Given the description of an element on the screen output the (x, y) to click on. 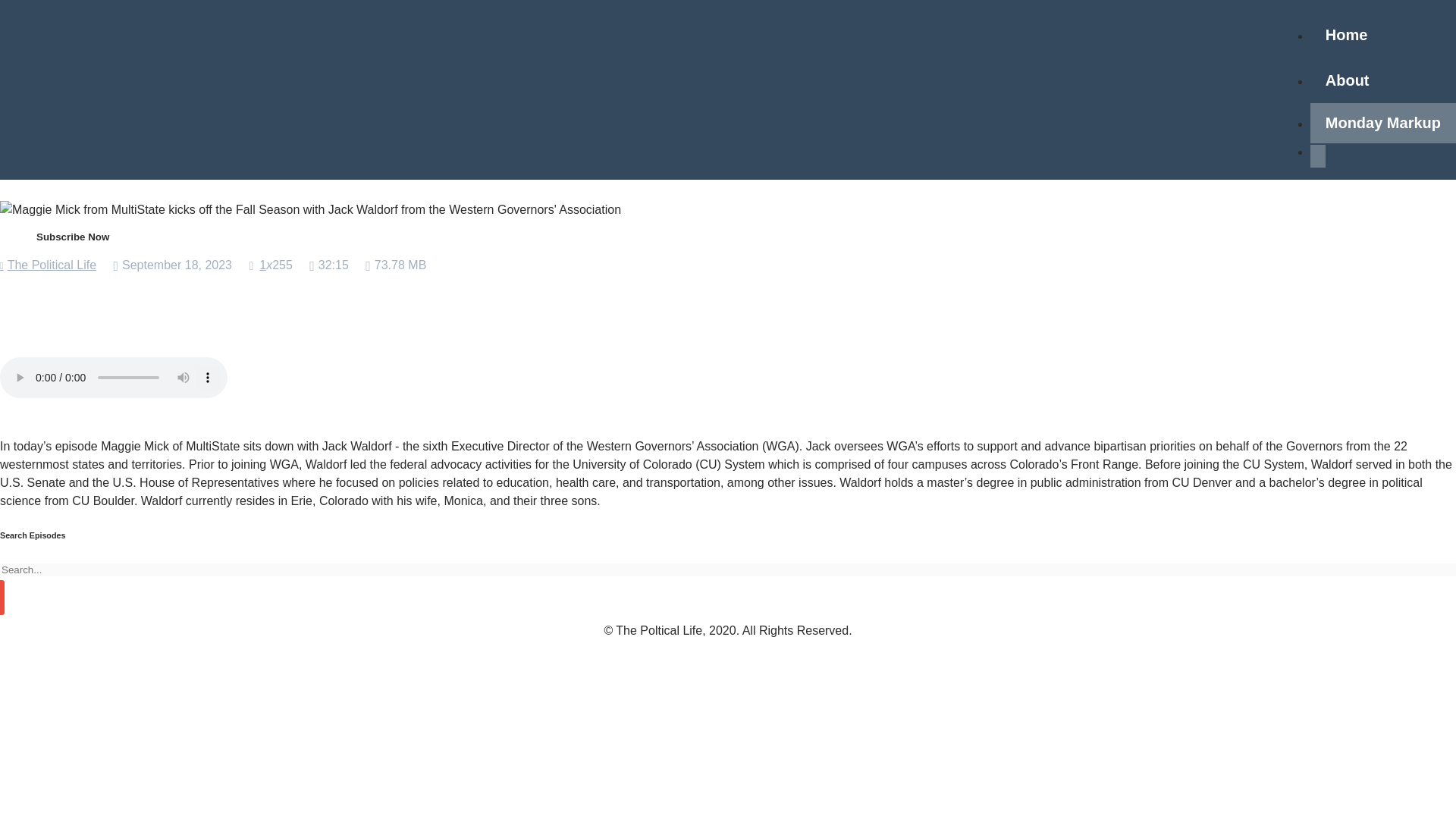
Home (1346, 34)
Episode Weight (395, 264)
Podcast (48, 264)
About (1347, 80)
The Political Life (48, 265)
Subscribe Now (72, 236)
Episode Duration (328, 264)
Date (172, 264)
